Given the description of an element on the screen output the (x, y) to click on. 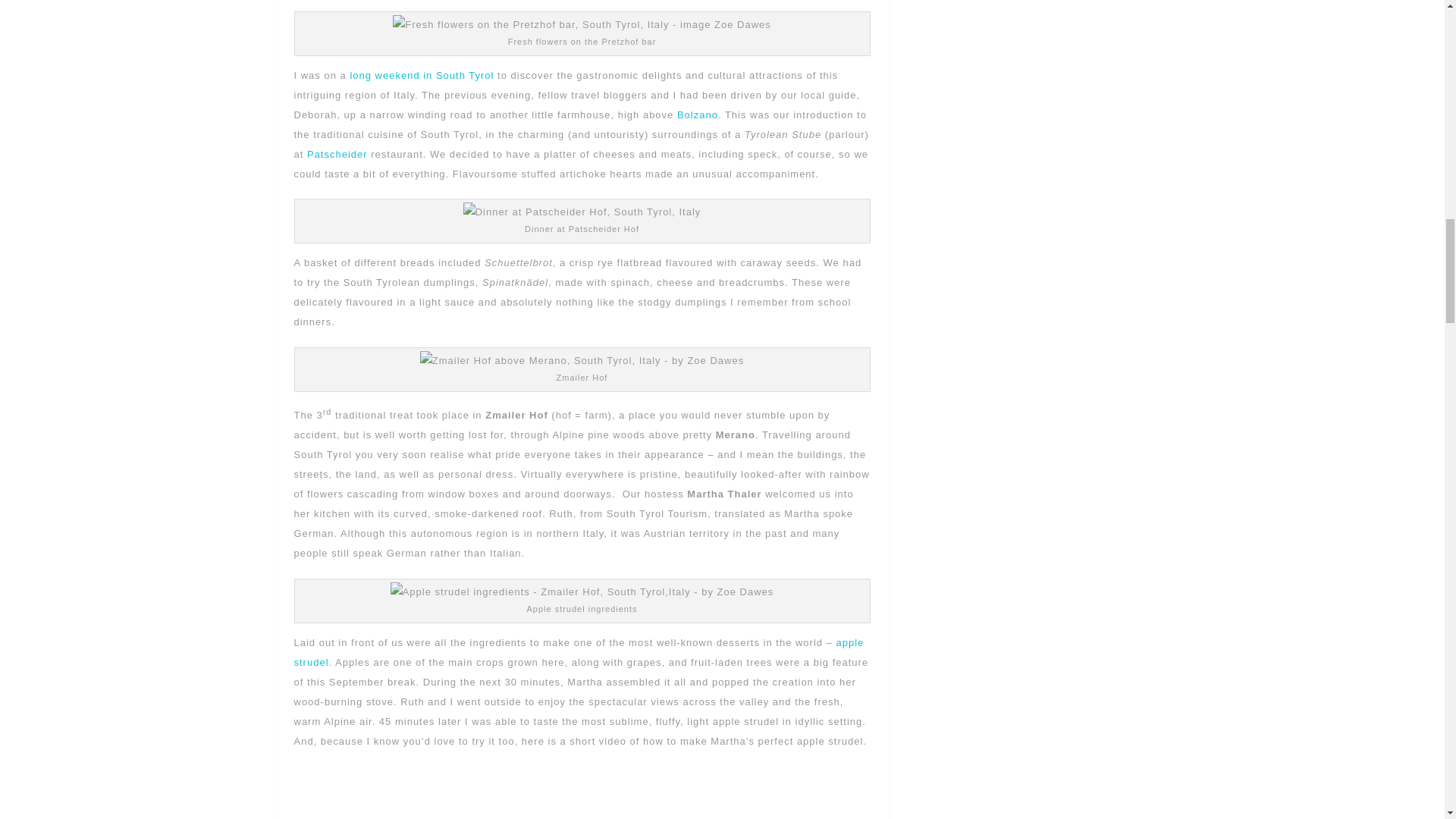
In and around Bolzano (697, 114)
Zmailer Hof  (582, 361)
apple strudel (579, 652)
Apple strudel ingredients (582, 591)
long weekend in South Tyrol (420, 75)
Patscheider (337, 153)
Apple Strudel (579, 652)
Bolzano (697, 114)
Patsheider Hof (337, 153)
Dinner at Patscheider Hof (582, 211)
Discover South Tyrol (420, 75)
